Given the description of an element on the screen output the (x, y) to click on. 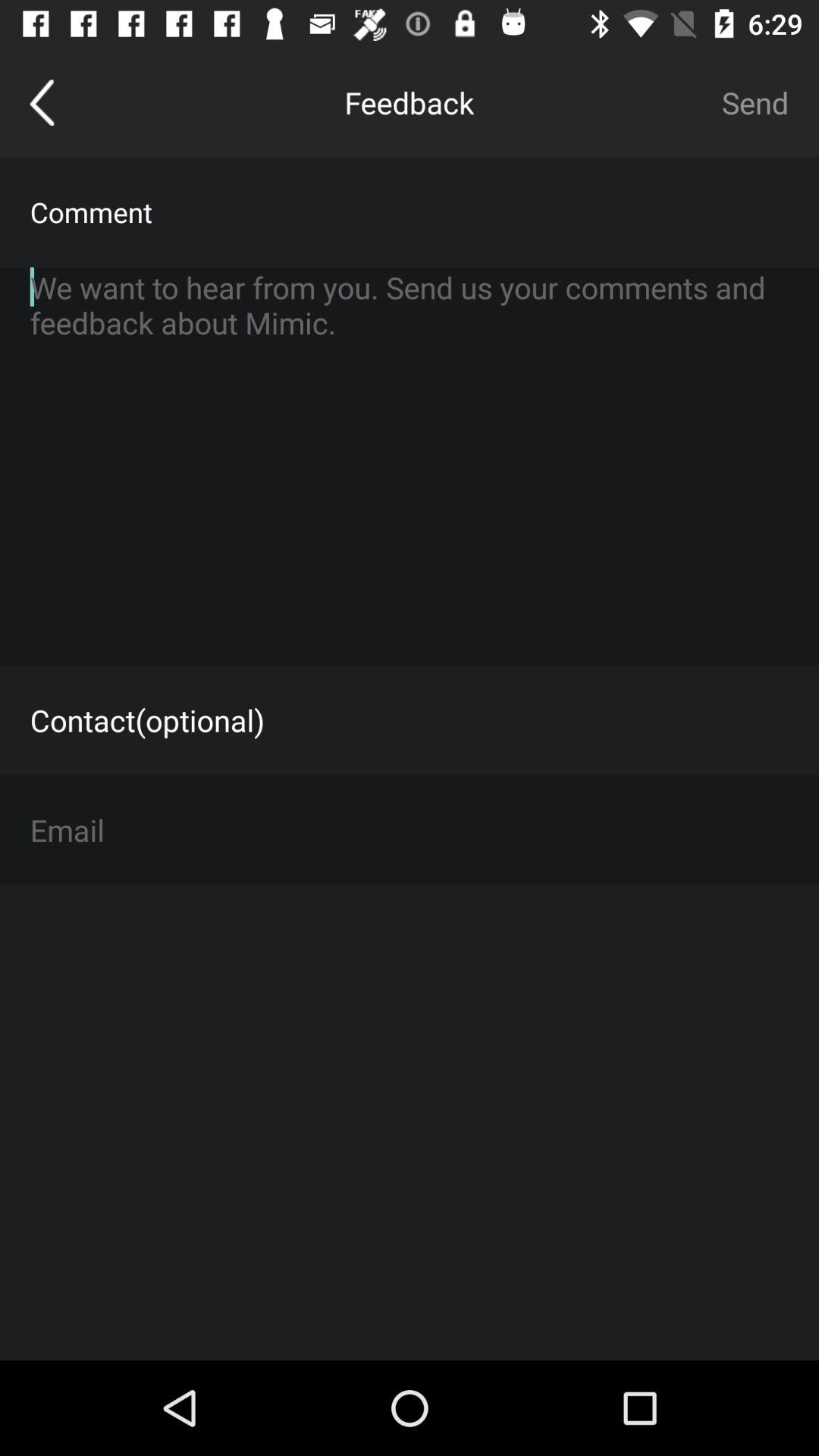
select the item to the right of feedback item (755, 102)
